Given the description of an element on the screen output the (x, y) to click on. 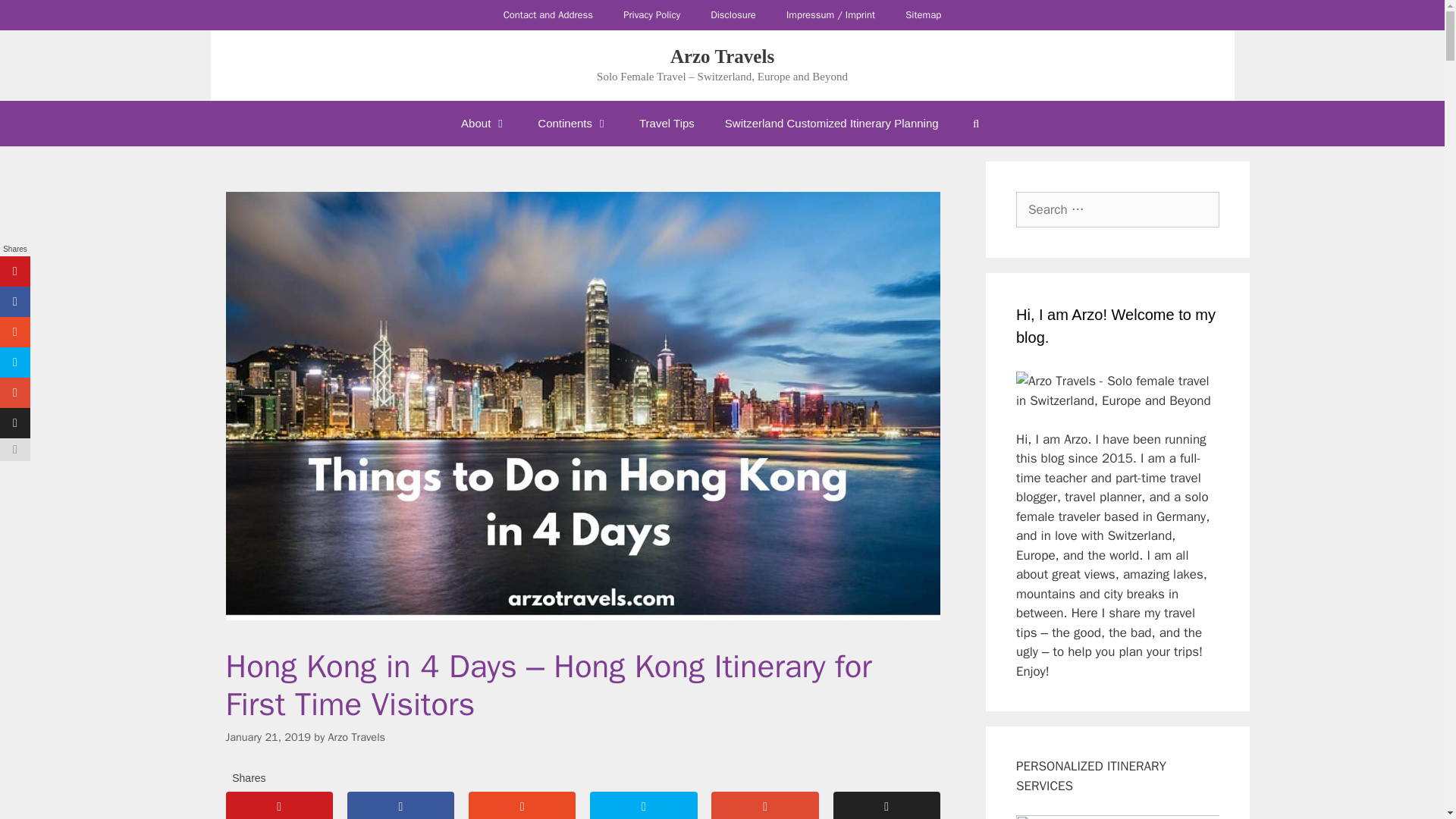
Contact and Address (547, 15)
View all posts by Arzo Travels (357, 736)
Sitemap (922, 15)
Arzo Travels (721, 55)
About (483, 122)
Arzo Travels (357, 736)
Privacy Policy (651, 15)
Continents (573, 122)
Travel Tips (667, 122)
Switzerland Customized Itinerary Planning (831, 122)
